Given the description of an element on the screen output the (x, y) to click on. 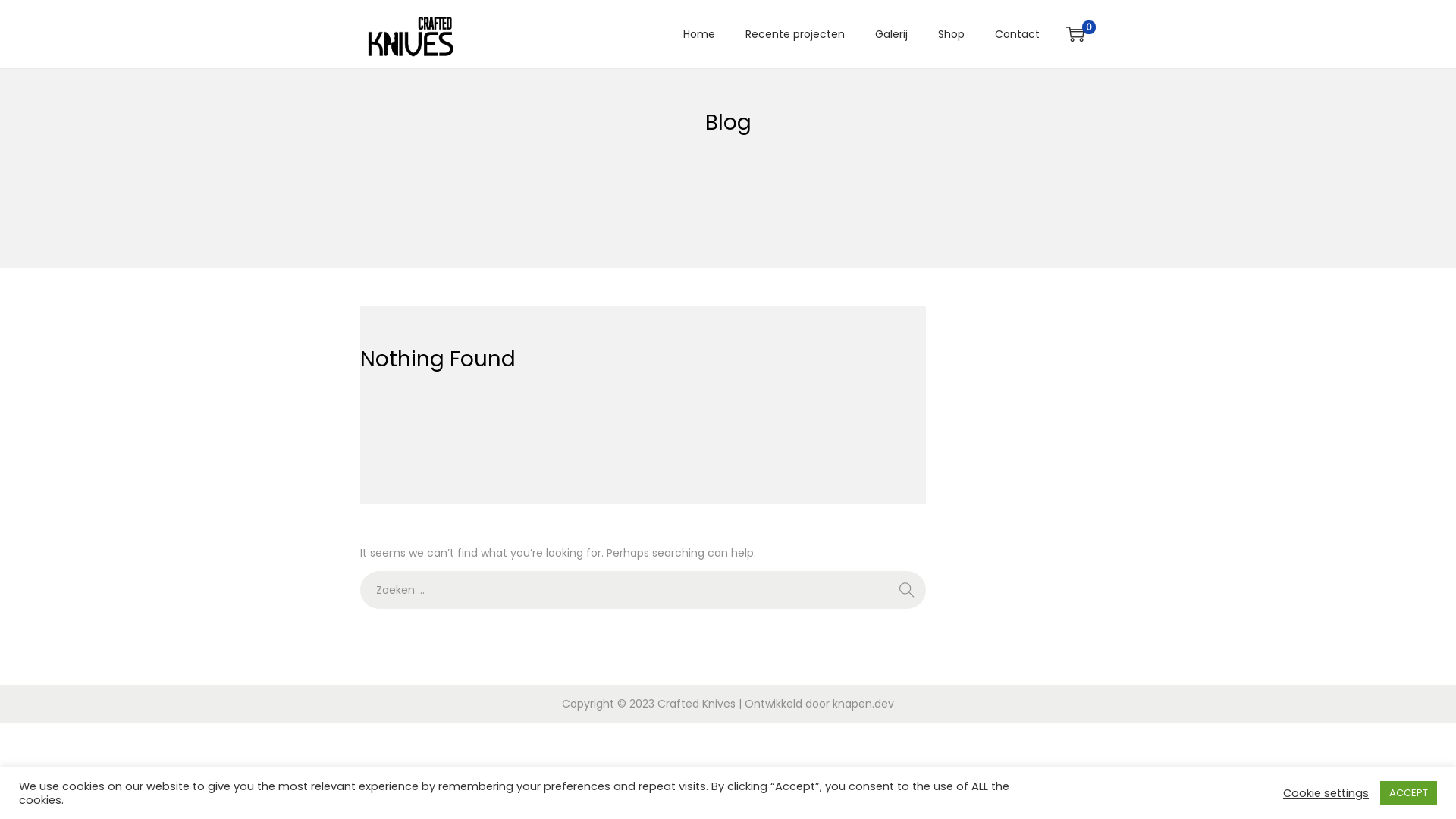
Galerij Element type: text (891, 34)
Shop Element type: text (951, 34)
ACCEPT Element type: text (1408, 792)
knapen.dev Element type: text (863, 703)
Zoeken Element type: text (906, 589)
0 Element type: text (1075, 34)
Recente projecten Element type: text (794, 34)
Skip to navigation Element type: text (359, 33)
Zoeken Element type: text (955, 428)
Home Element type: text (699, 34)
Cookie settings Element type: text (1325, 792)
Contact Element type: text (1016, 34)
